Given the description of an element on the screen output the (x, y) to click on. 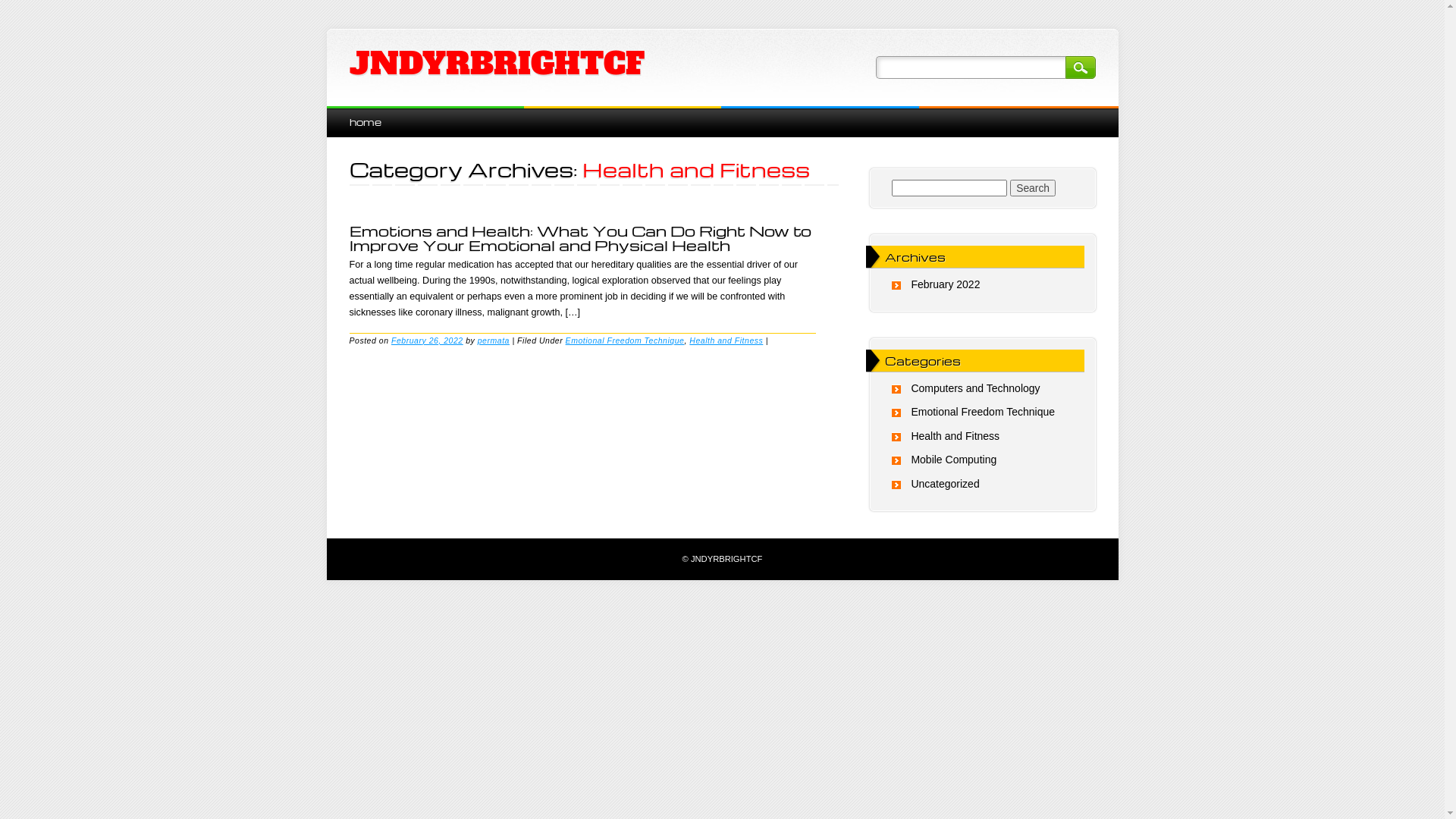
Search Element type: text (1079, 67)
Emotional Freedom Technique Element type: text (982, 411)
permata Element type: text (493, 339)
Health and Fitness Element type: text (725, 339)
Health and Fitness Element type: text (954, 435)
Mobile Computing Element type: text (953, 459)
Skip to content Element type: text (361, 113)
Emotional Freedom Technique Element type: text (624, 339)
February 2022 Element type: text (944, 284)
Uncategorized Element type: text (944, 483)
Computers and Technology Element type: text (974, 388)
February 26, 2022 Element type: text (427, 339)
JNDYRBRIGHTCF Element type: text (495, 63)
home Element type: text (364, 121)
Search Element type: text (1032, 187)
